Given the description of an element on the screen output the (x, y) to click on. 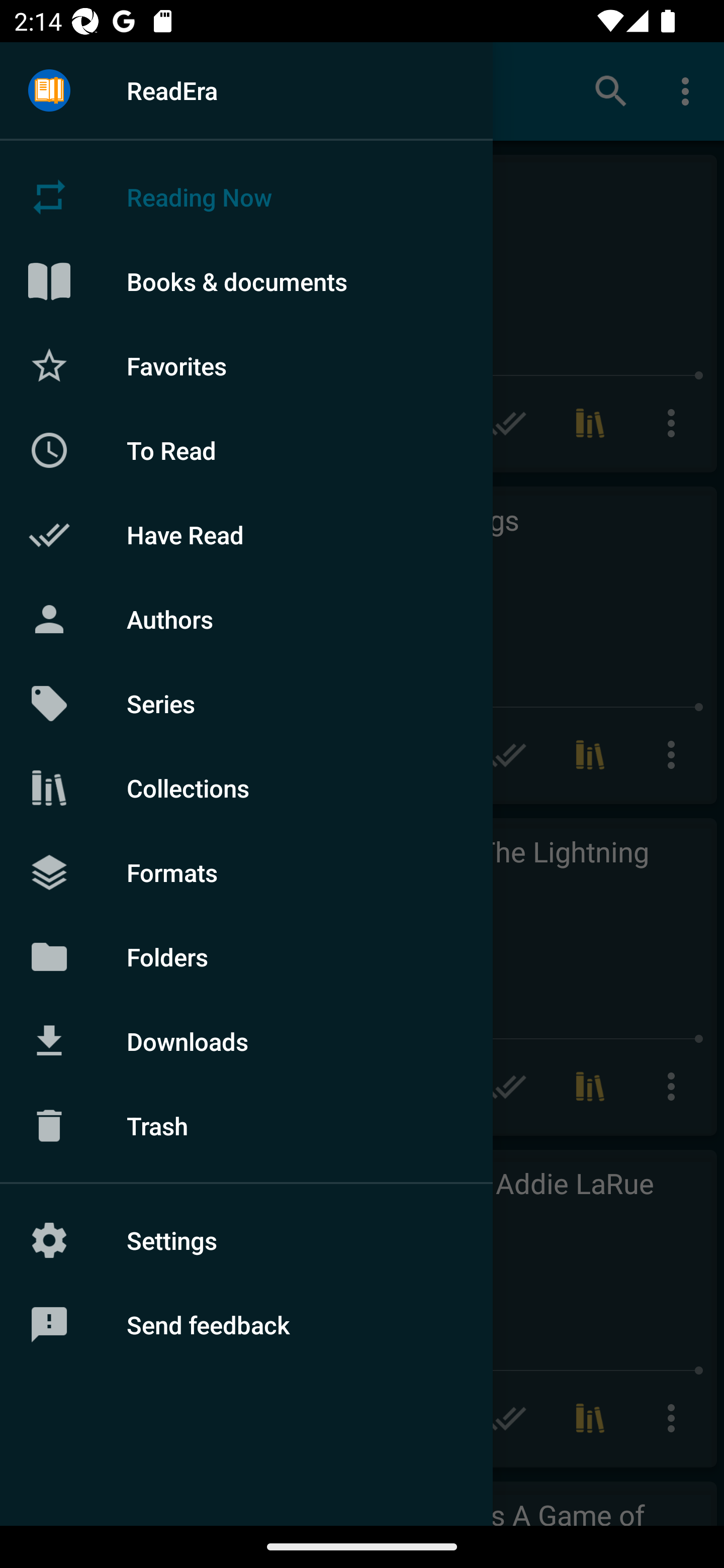
Menu (49, 91)
ReadEra (246, 89)
Search books & documents (611, 90)
More options (688, 90)
Reading Now (246, 197)
Books & documents (246, 281)
Favorites (246, 365)
To Read (246, 449)
Have Read (246, 534)
Authors (246, 619)
Series (246, 703)
Collections (246, 787)
Formats (246, 871)
Folders (246, 956)
Downloads (246, 1040)
Trash (246, 1125)
Settings (246, 1239)
Send feedback (246, 1324)
